Given the description of an element on the screen output the (x, y) to click on. 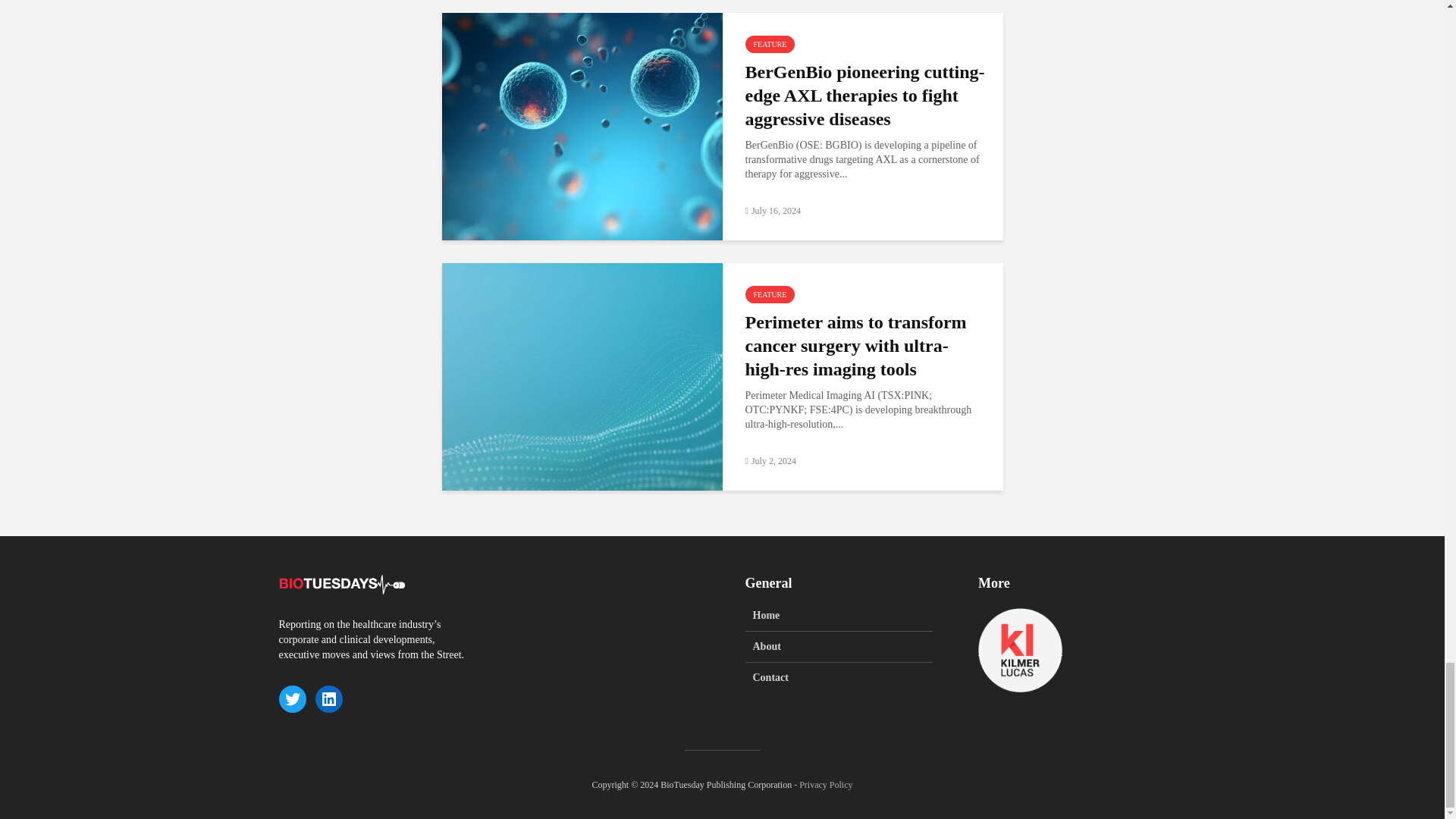
More (1020, 650)
Home (838, 619)
FEATURE (769, 294)
FEATURE (769, 44)
Twitter (292, 698)
About (838, 646)
LinkedIn (328, 698)
